Given the description of an element on the screen output the (x, y) to click on. 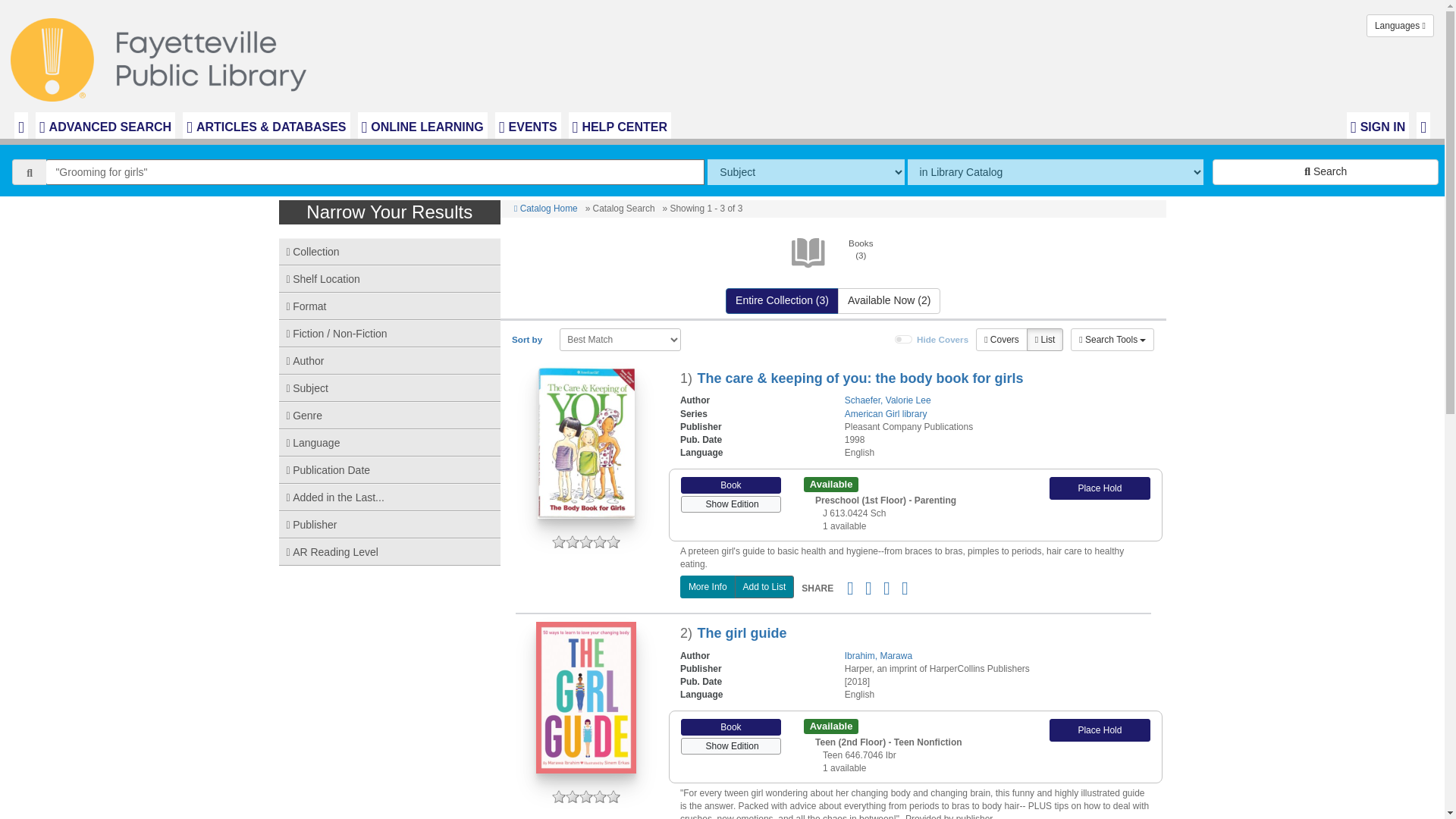
Login (1377, 125)
on (903, 338)
Languages  (1400, 25)
ADVANCED SEARCH (104, 125)
 Search (1325, 171)
SIGN IN (1377, 125)
ONLINE LEARNING (422, 125)
The method of searching. (805, 171)
HELP CENTER (620, 125)
